Given the description of an element on the screen output the (x, y) to click on. 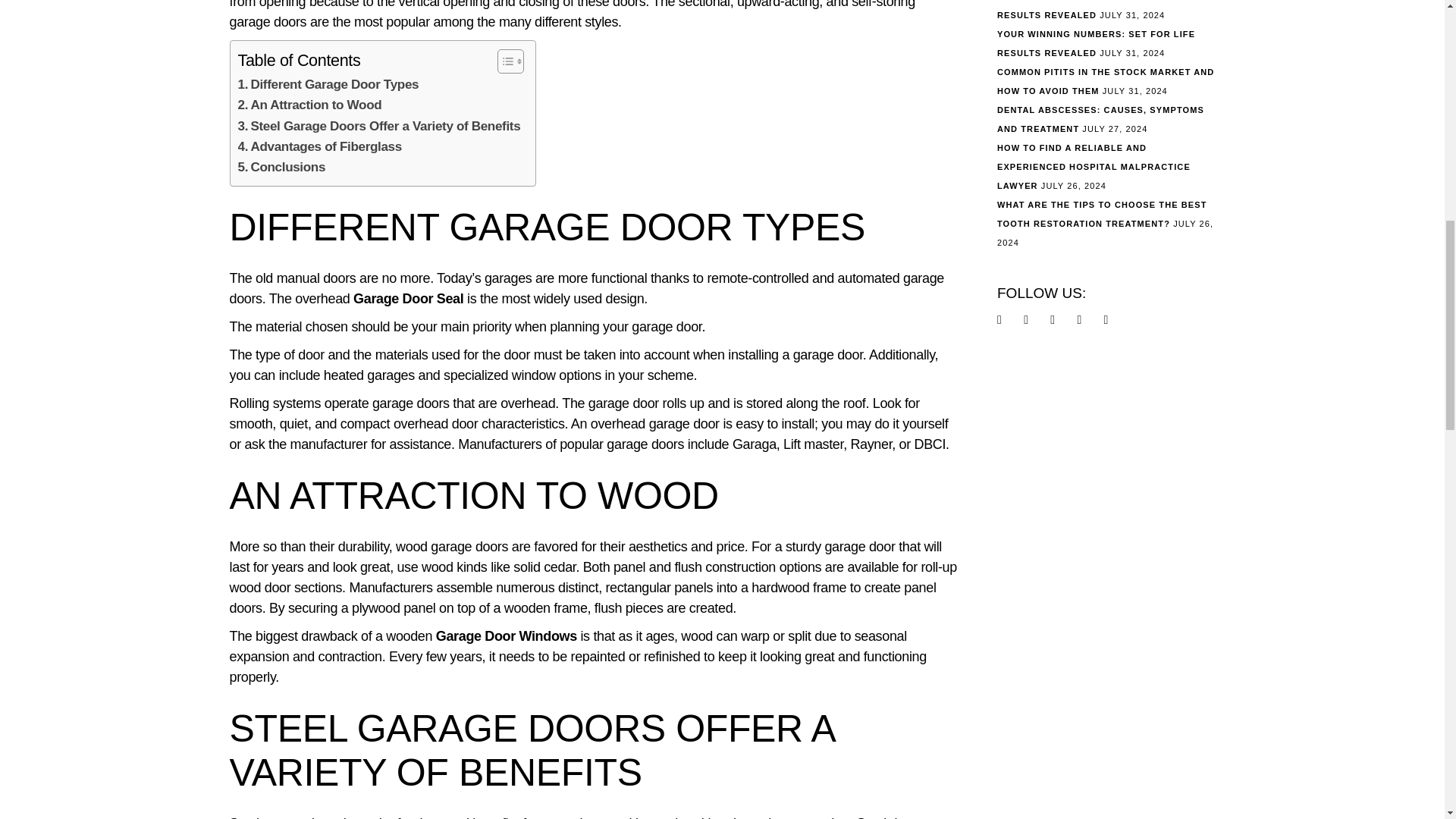
Conclusions (282, 167)
Steel Garage Doors Offer a Variety of Benefits (379, 126)
An Attraction to Wood (309, 105)
Advantages of Fiberglass (319, 146)
Different Garage Door Types (328, 84)
